Given the description of an element on the screen output the (x, y) to click on. 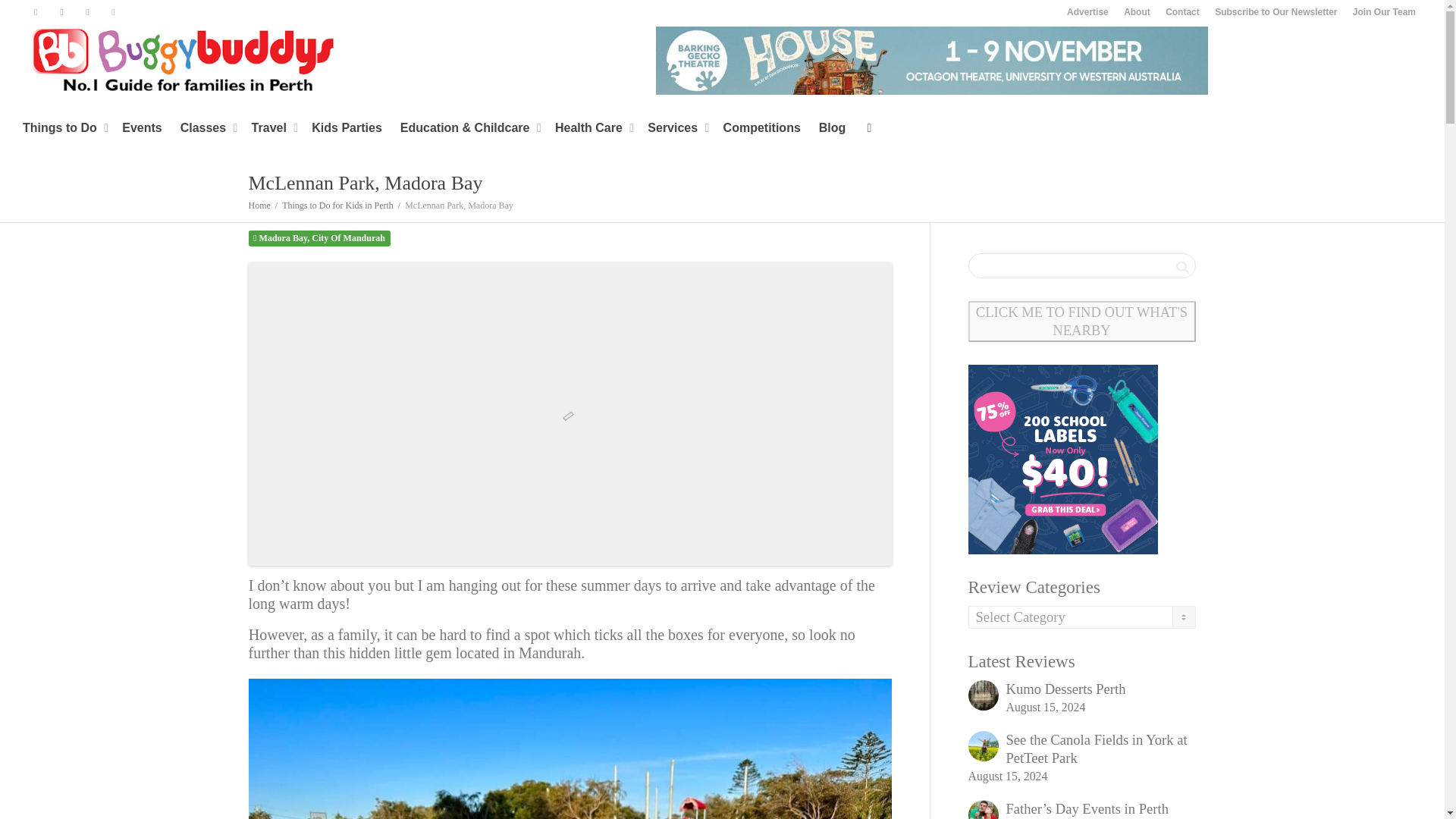
Search (1181, 266)
Subscribe to Our Newsletter (1275, 12)
Subscribe to Our Newsletter (1275, 12)
Contact (1182, 12)
Buggybuddys guide for families in Perth (181, 58)
Things to Do (63, 128)
About (1137, 12)
Search (1181, 266)
Advertise (1088, 12)
Join Our Team (1384, 12)
